Given the description of an element on the screen output the (x, y) to click on. 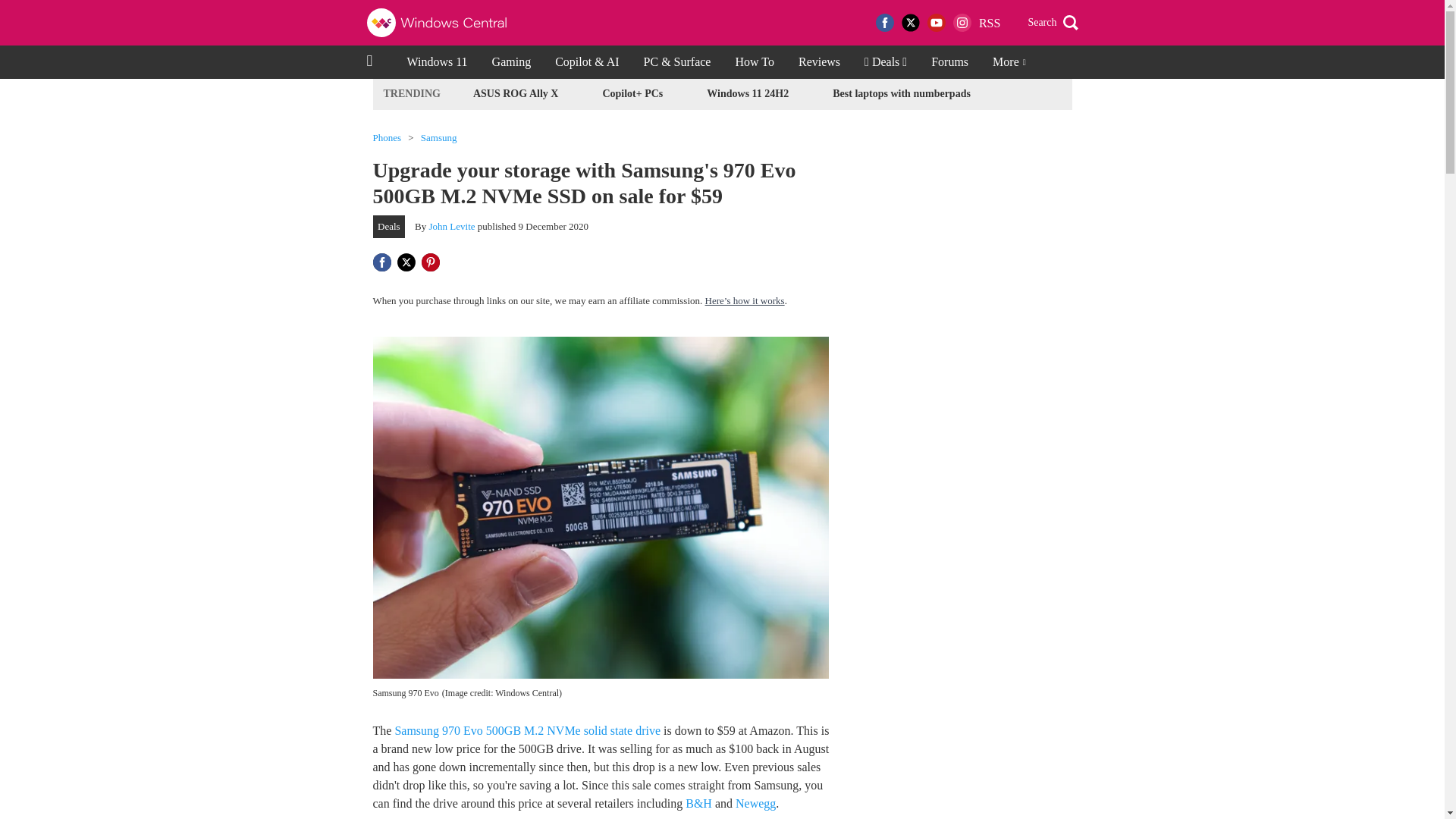
John Levite (452, 225)
ASUS ROG Ally X (515, 93)
Gaming (511, 61)
How To (754, 61)
Newegg (755, 802)
Forums (948, 61)
Samsung 970 Evo 500GB M.2 NVMe solid state drive (527, 730)
Windows 11 24H2 (747, 93)
Deals (389, 226)
Best laptops with numberpads (901, 93)
